Given the description of an element on the screen output the (x, y) to click on. 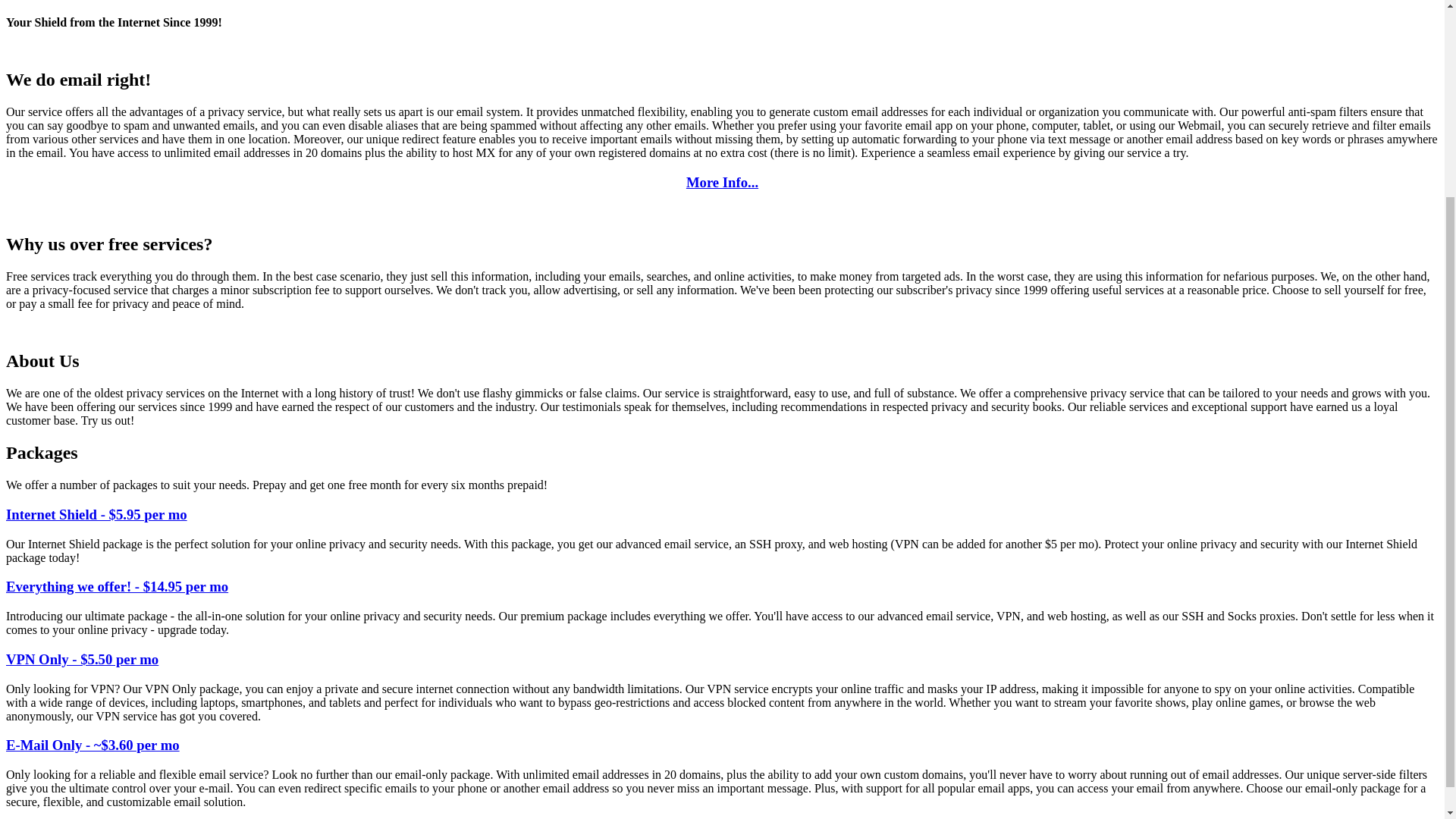
More Info... (721, 182)
